Given the description of an element on the screen output the (x, y) to click on. 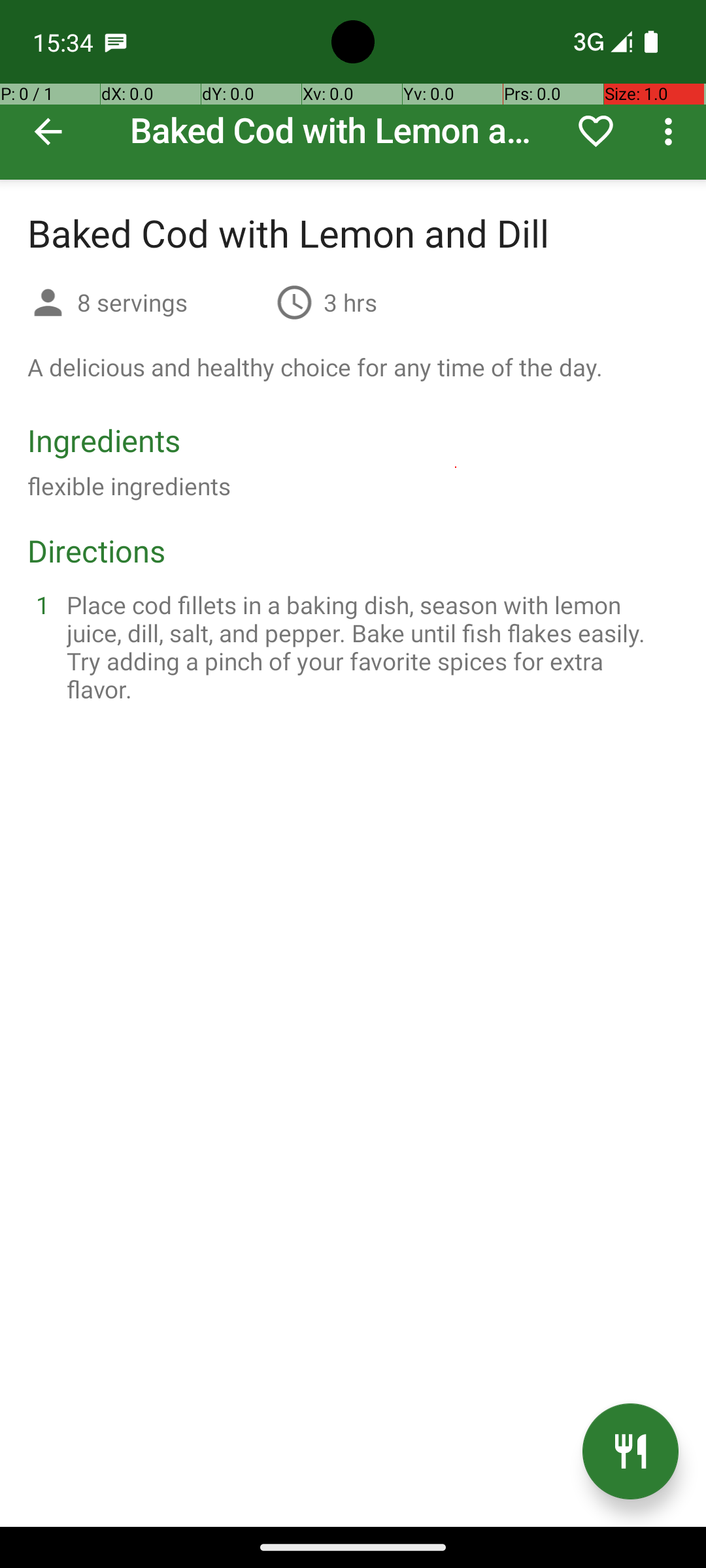
8 servings Element type: android.widget.TextView (170, 301)
flexible ingredients Element type: android.widget.TextView (128, 485)
Place cod fillets in a baking dish, season with lemon juice, dill, salt, and pepper. Bake until fish flakes easily. Try adding a pinch of your favorite spices for extra flavor. Element type: android.widget.TextView (368, 646)
